Given the description of an element on the screen output the (x, y) to click on. 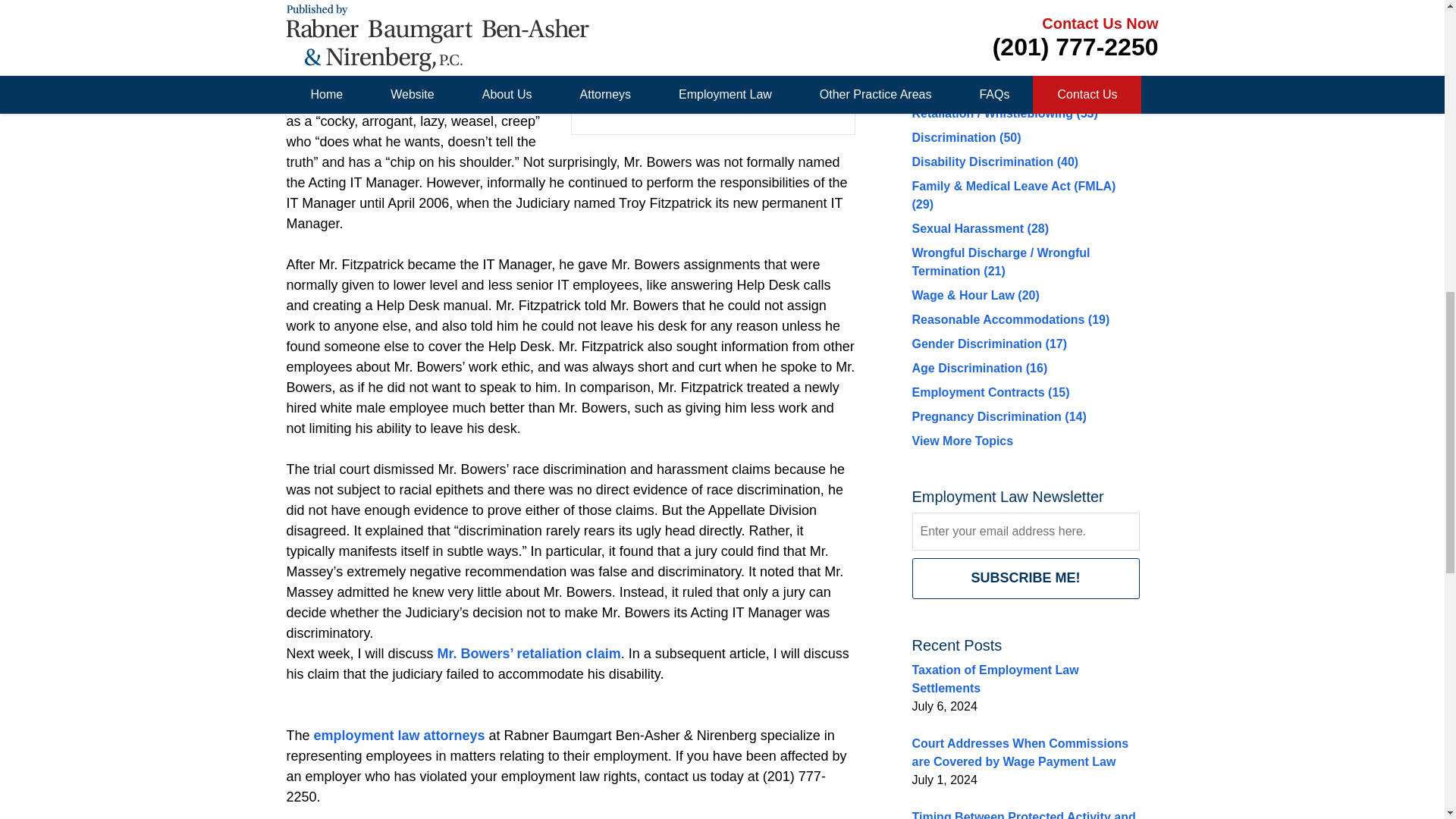
employment law attorneys (399, 735)
